Given the description of an element on the screen output the (x, y) to click on. 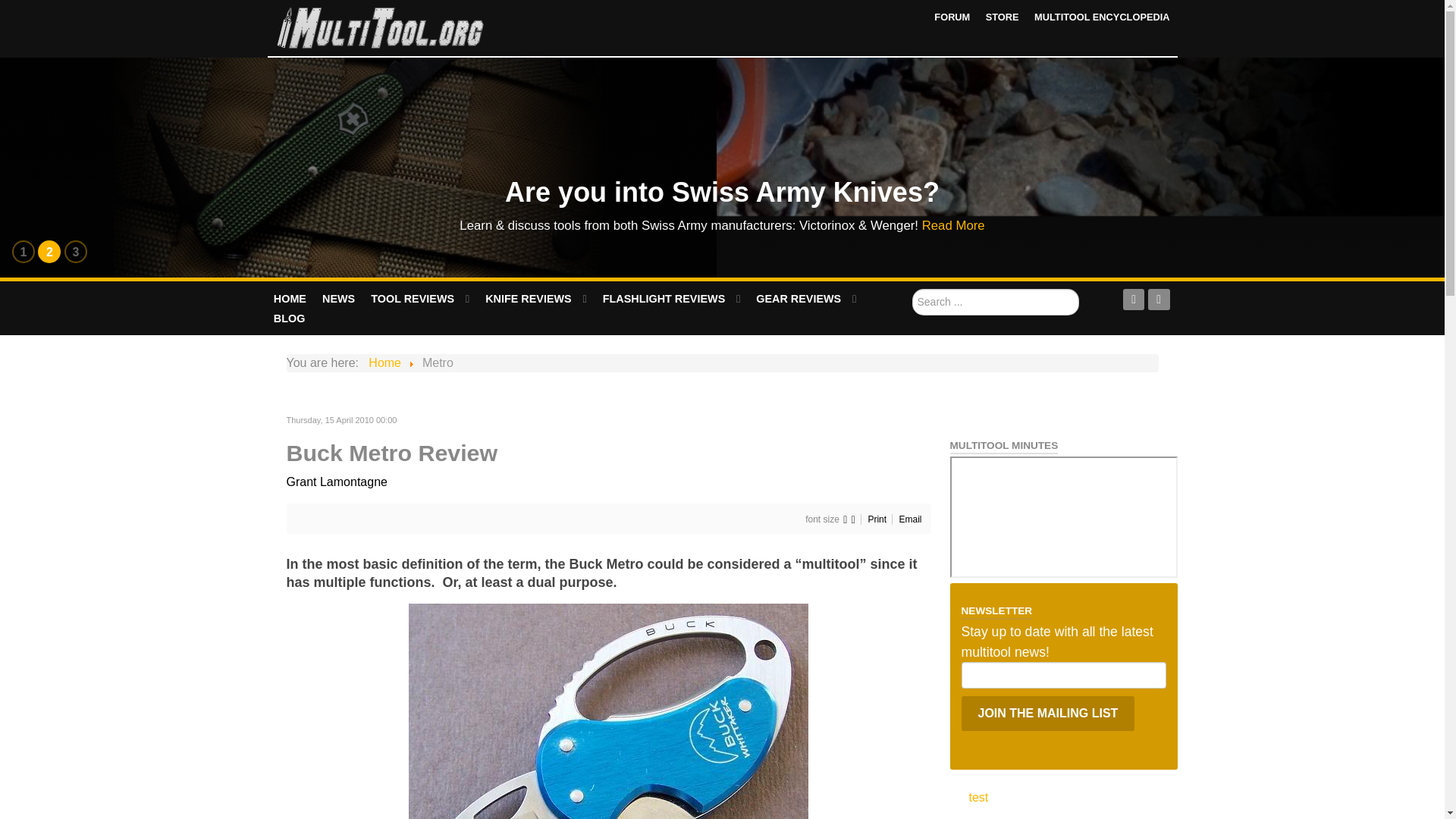
Forum (951, 16)
STORE (1002, 16)
MULTITOOL ENCYCLOPEDIA (1101, 16)
TOOL REVIEWS (420, 298)
NEWS (339, 298)
Multitool Encyclopedia (1101, 16)
Email Address... (1063, 674)
Read More (953, 225)
Store (1002, 16)
HOME (289, 298)
